Given the description of an element on the screen output the (x, y) to click on. 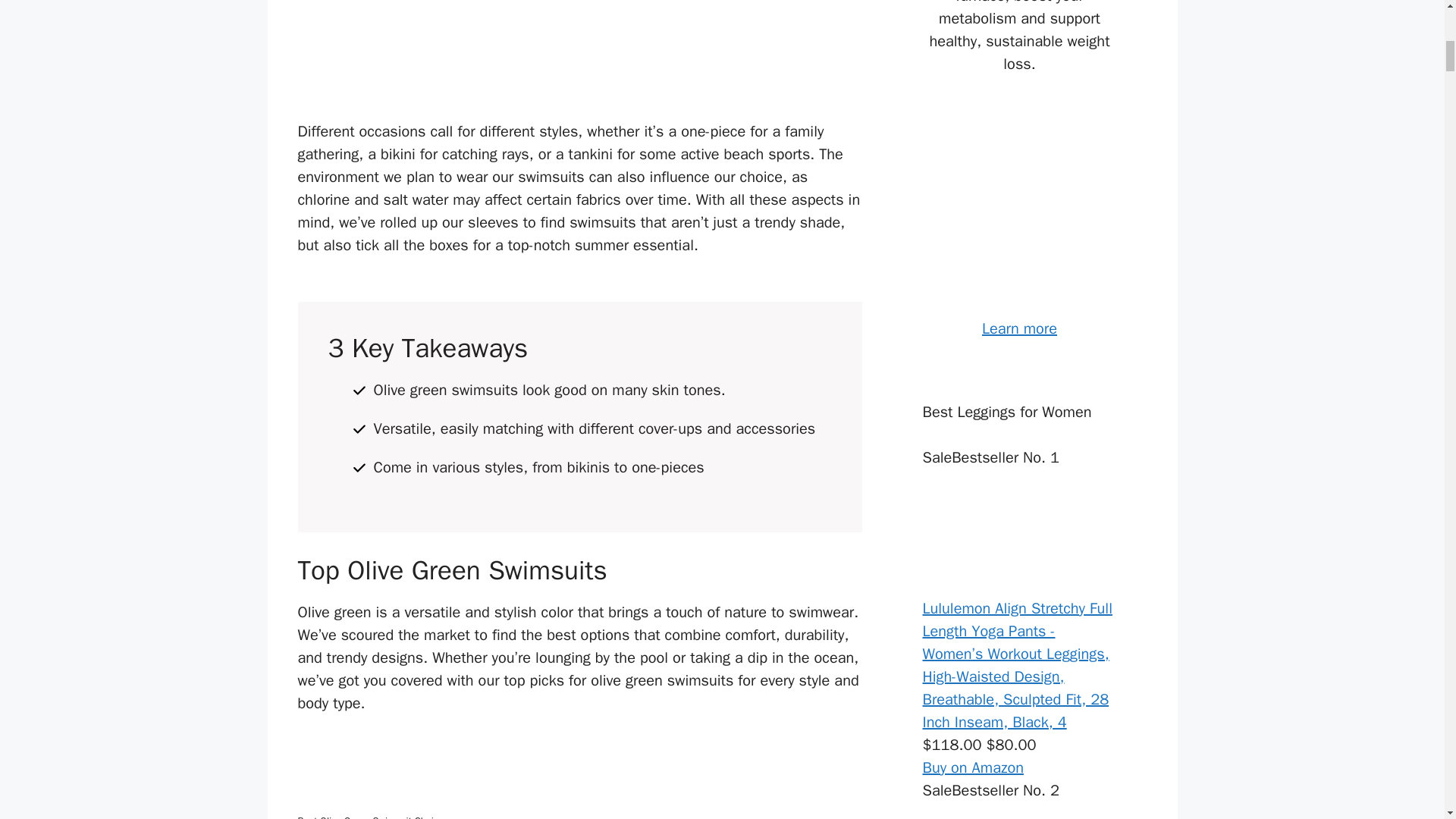
olive-green-swimwear (579, 49)
